Given the description of an element on the screen output the (x, y) to click on. 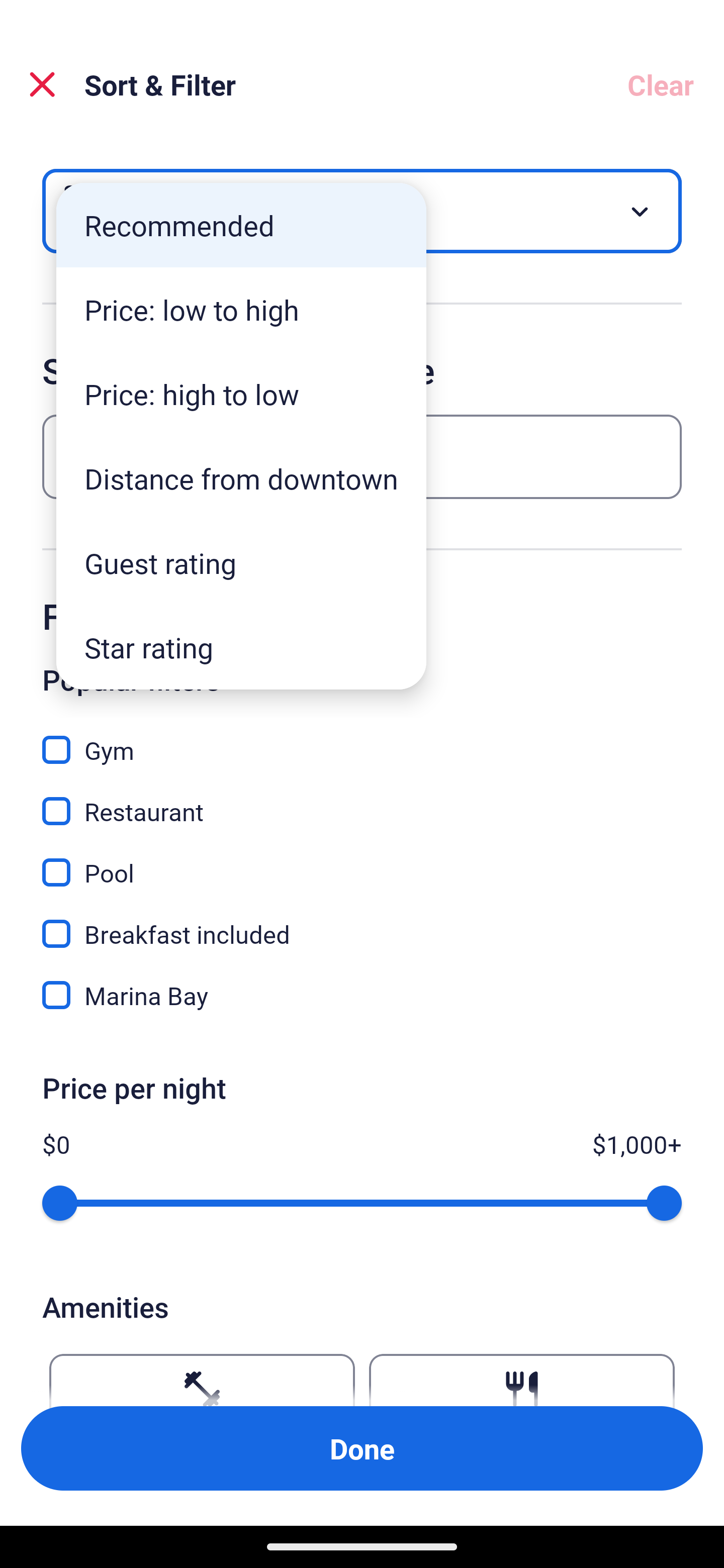
Price: low to high (241, 309)
Price: high to low (241, 393)
Distance from downtown (241, 477)
Guest rating (241, 562)
Star rating (241, 647)
